Given the description of an element on the screen output the (x, y) to click on. 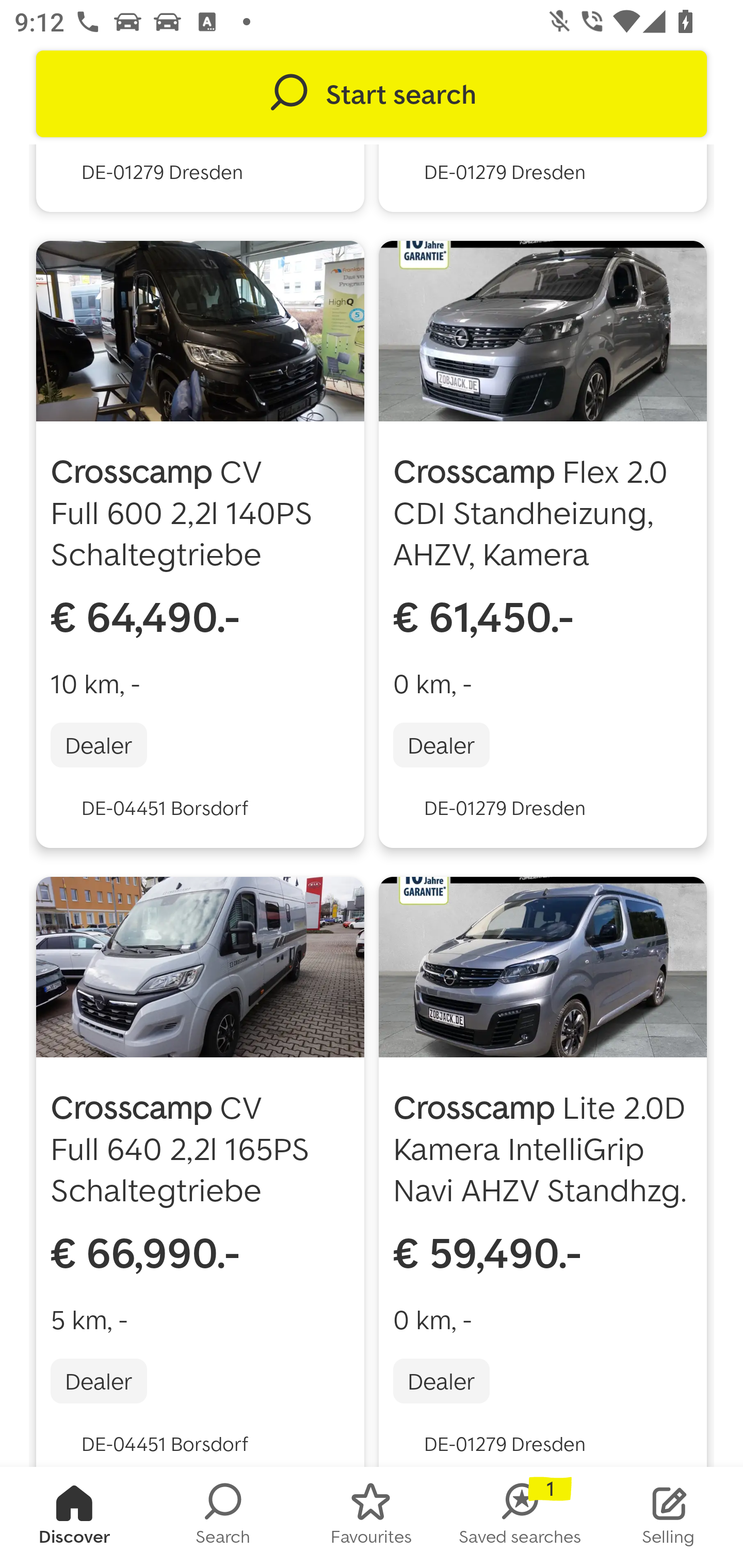
Start search (371, 93)
HOMESCREEN Discover (74, 1517)
SEARCH Search (222, 1517)
FAVORITES Favourites (371, 1517)
SAVED_SEARCHES Saved searches 1 (519, 1517)
STOCK_LIST Selling (668, 1517)
